Given the description of an element on the screen output the (x, y) to click on. 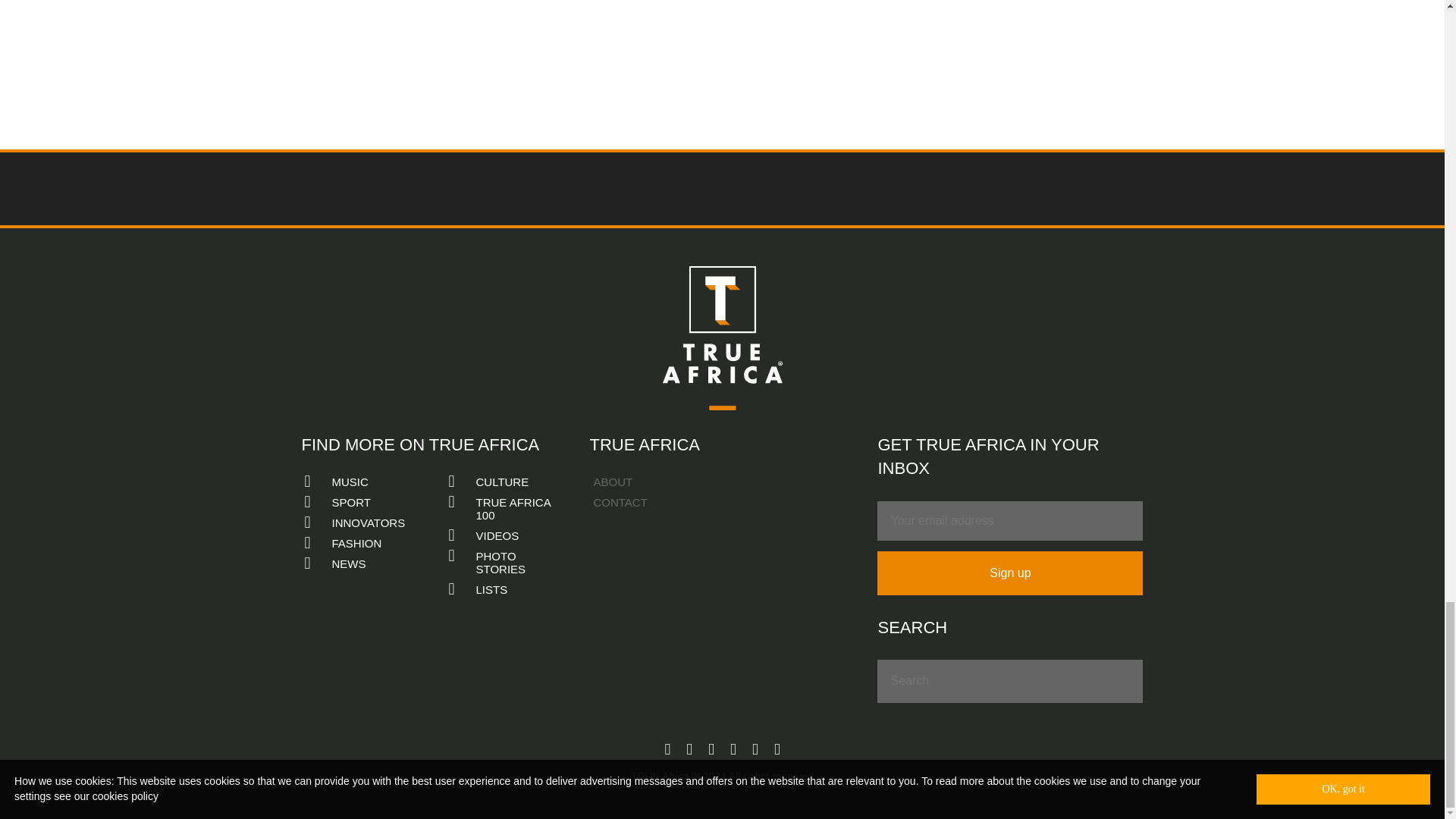
Sign up (1009, 573)
3rd party ad content (722, 63)
